Given the description of an element on the screen output the (x, y) to click on. 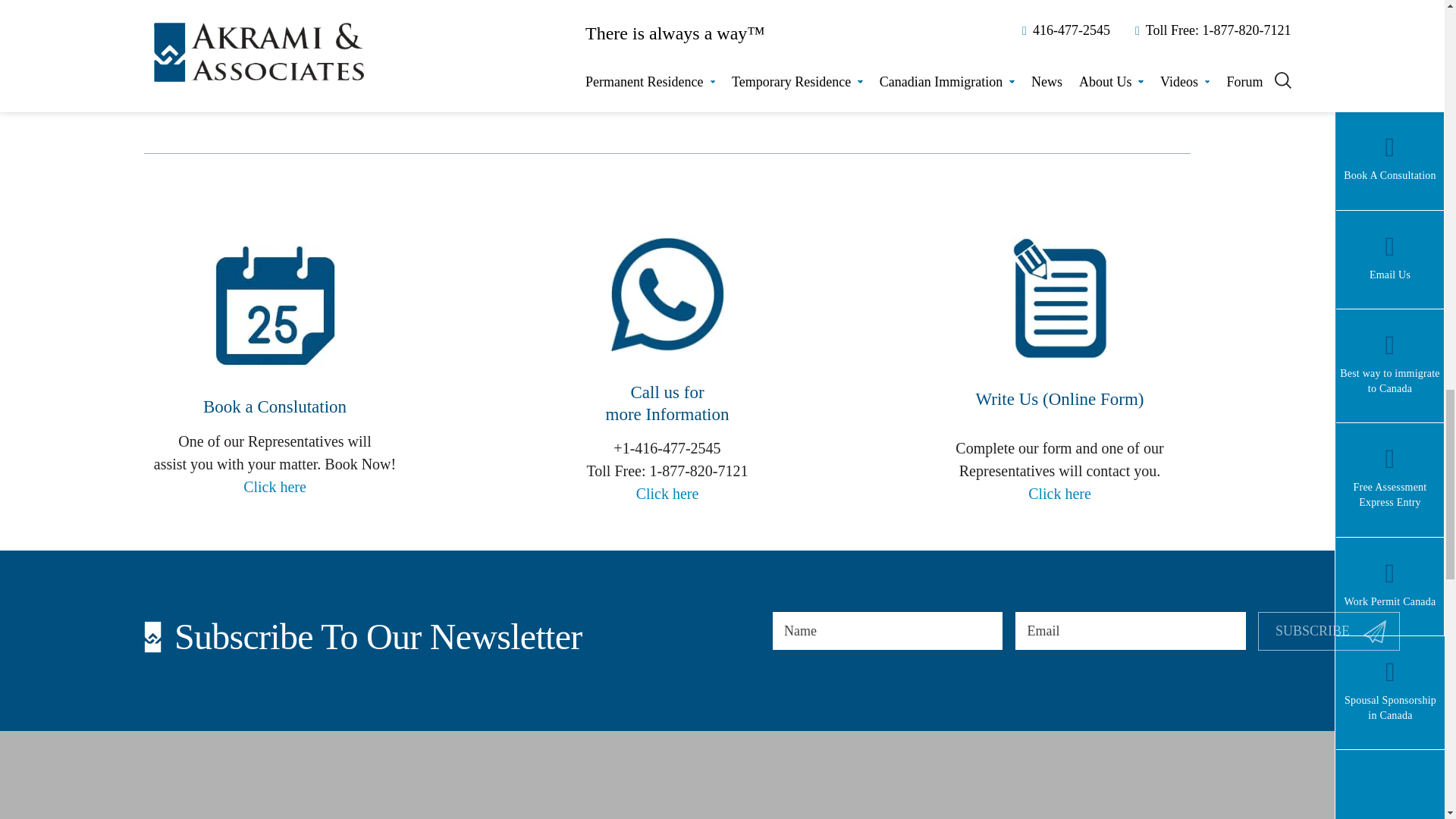
There is always a way (667, 775)
consultation (274, 305)
Call-us (1328, 630)
